Given the description of an element on the screen output the (x, y) to click on. 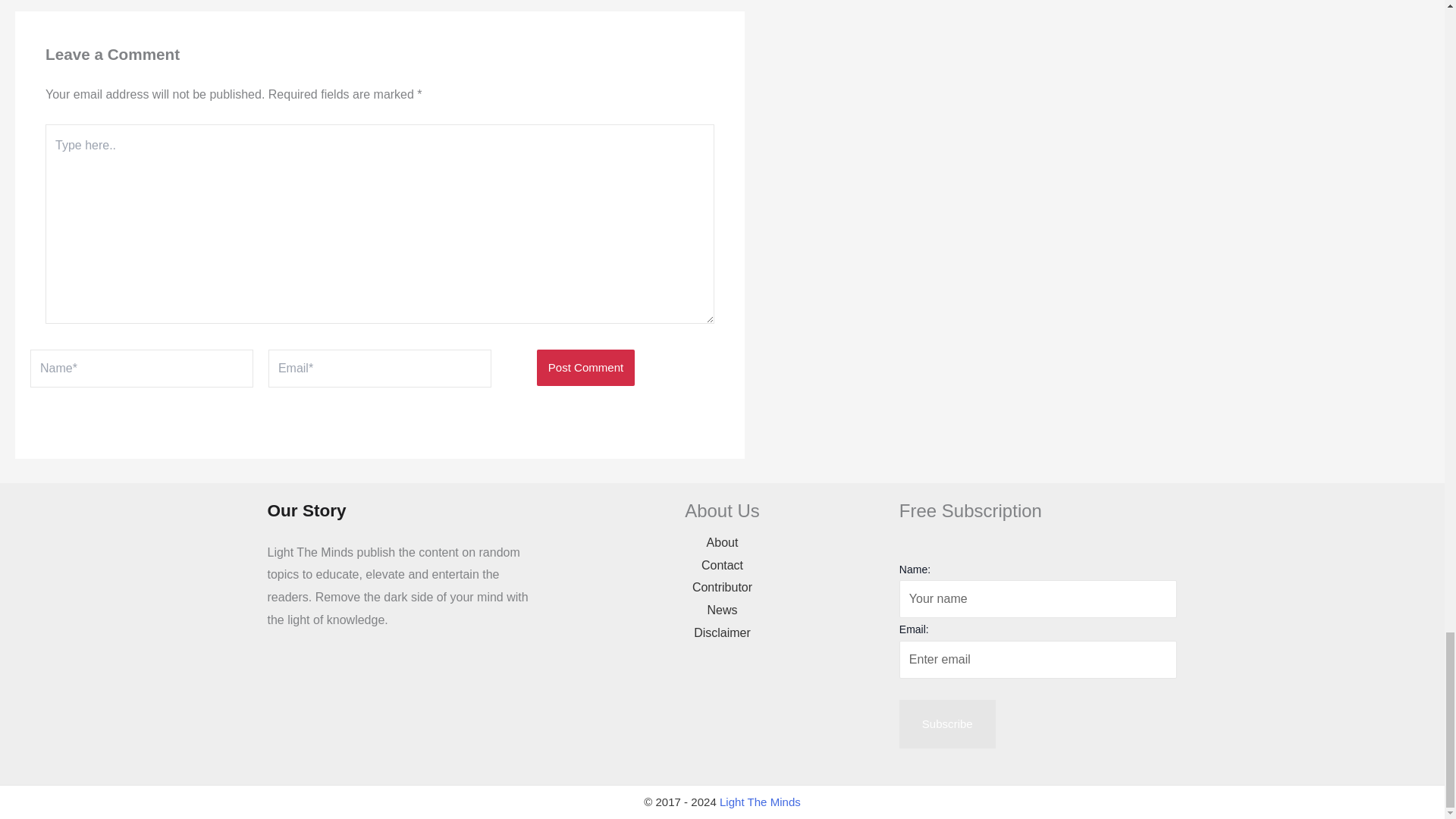
Enter email (1038, 659)
Subscribe (947, 724)
Post Comment (585, 367)
Your name (1038, 598)
